Given the description of an element on the screen output the (x, y) to click on. 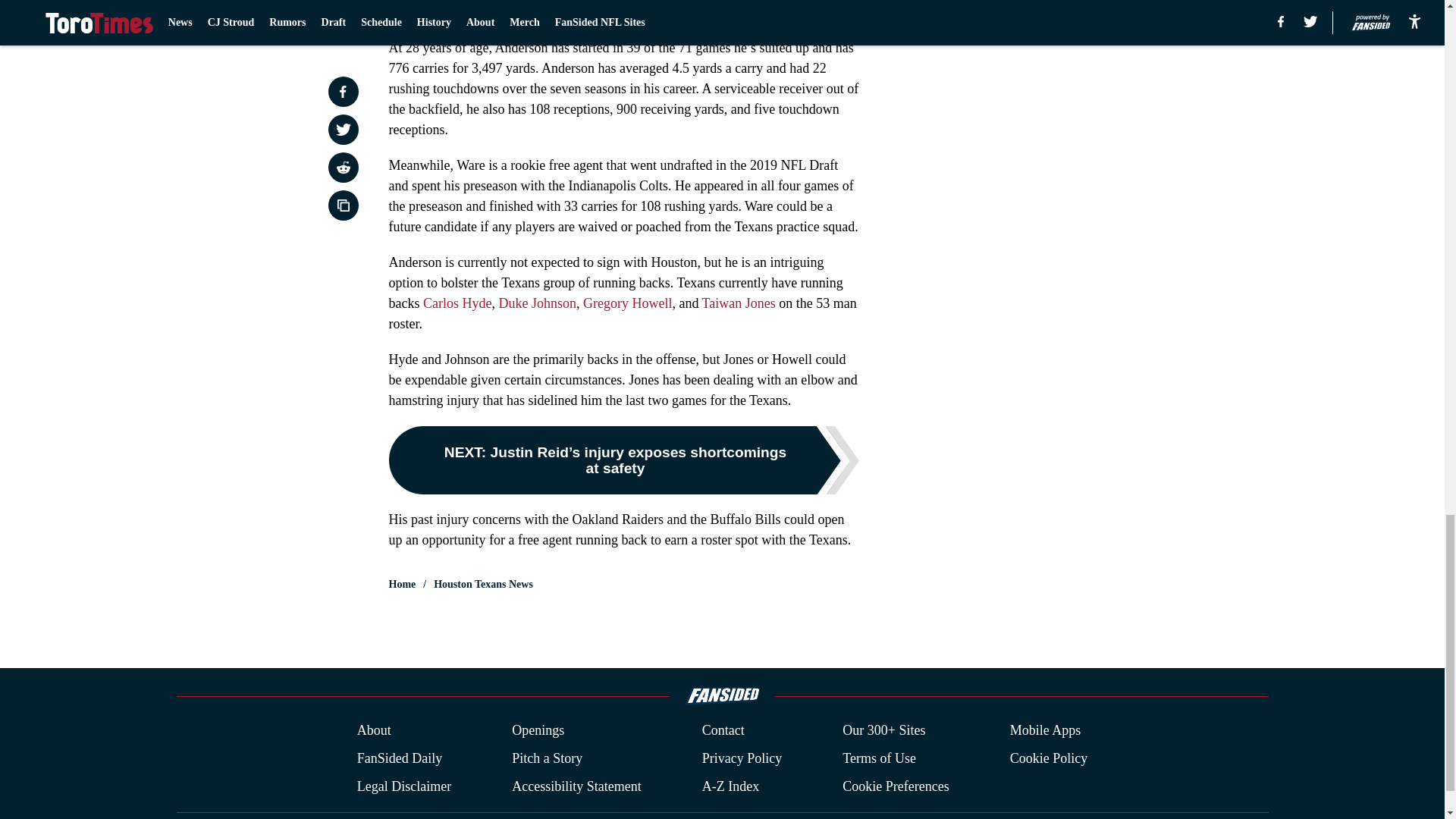
Taiwan Jones (736, 303)
Contact (722, 730)
About (373, 730)
Duke Johnson (536, 303)
Carlos Hyde (455, 303)
Houston Texans News (482, 584)
Gregory Howell (627, 303)
Home (401, 584)
Openings (538, 730)
